Given the description of an element on the screen output the (x, y) to click on. 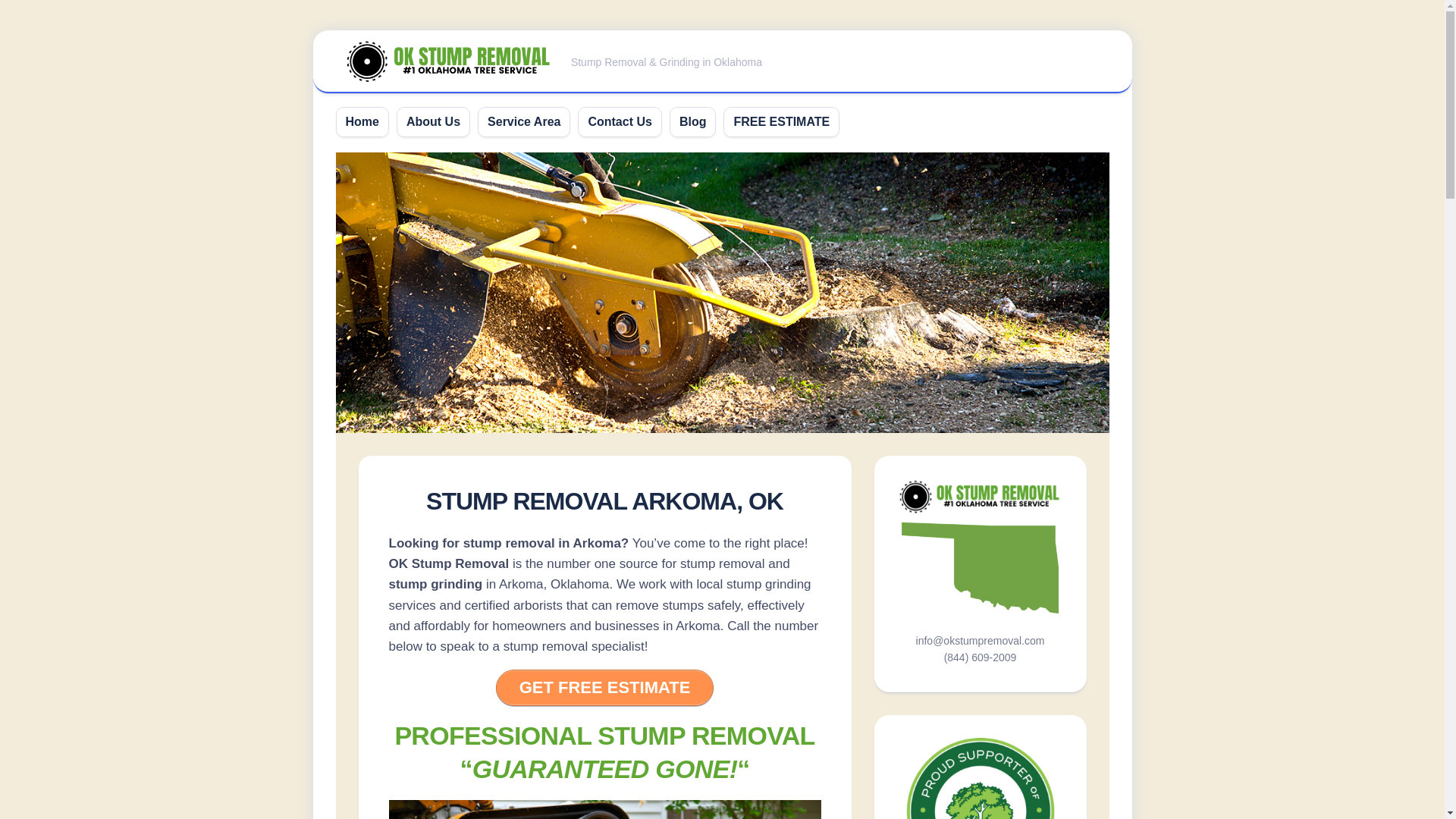
About Us (433, 121)
Blog (692, 121)
Home (362, 121)
Service Area (523, 121)
Contact Us (619, 121)
FREE ESTIMATE (781, 121)
GET FREE ESTIMATE (605, 687)
